Given the description of an element on the screen output the (x, y) to click on. 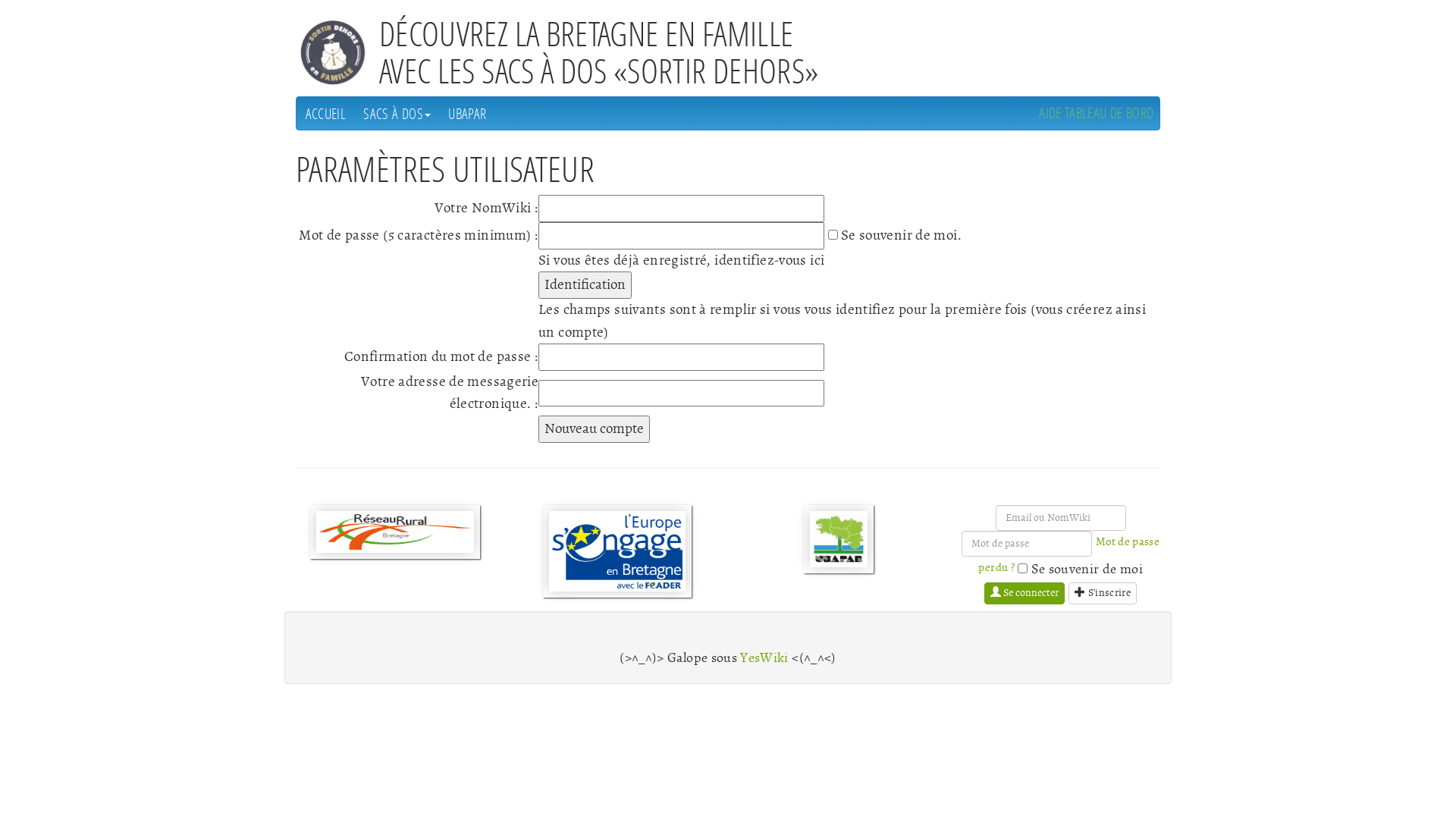
Mot de passe perdu ? Element type: text (1068, 554)
ACCUEIL Element type: text (325, 113)
Identification Element type: text (584, 284)
TABLEAU DE BORD Element type: text (1108, 112)
S'inscrire Element type: text (1102, 593)
UBAPAR Element type: text (467, 113)
AIDE Element type: text (1049, 112)
Nouveau compte Element type: text (593, 428)
Se connecter Element type: text (1024, 593)
YesWiki Element type: text (763, 657)
